Given the description of an element on the screen output the (x, y) to click on. 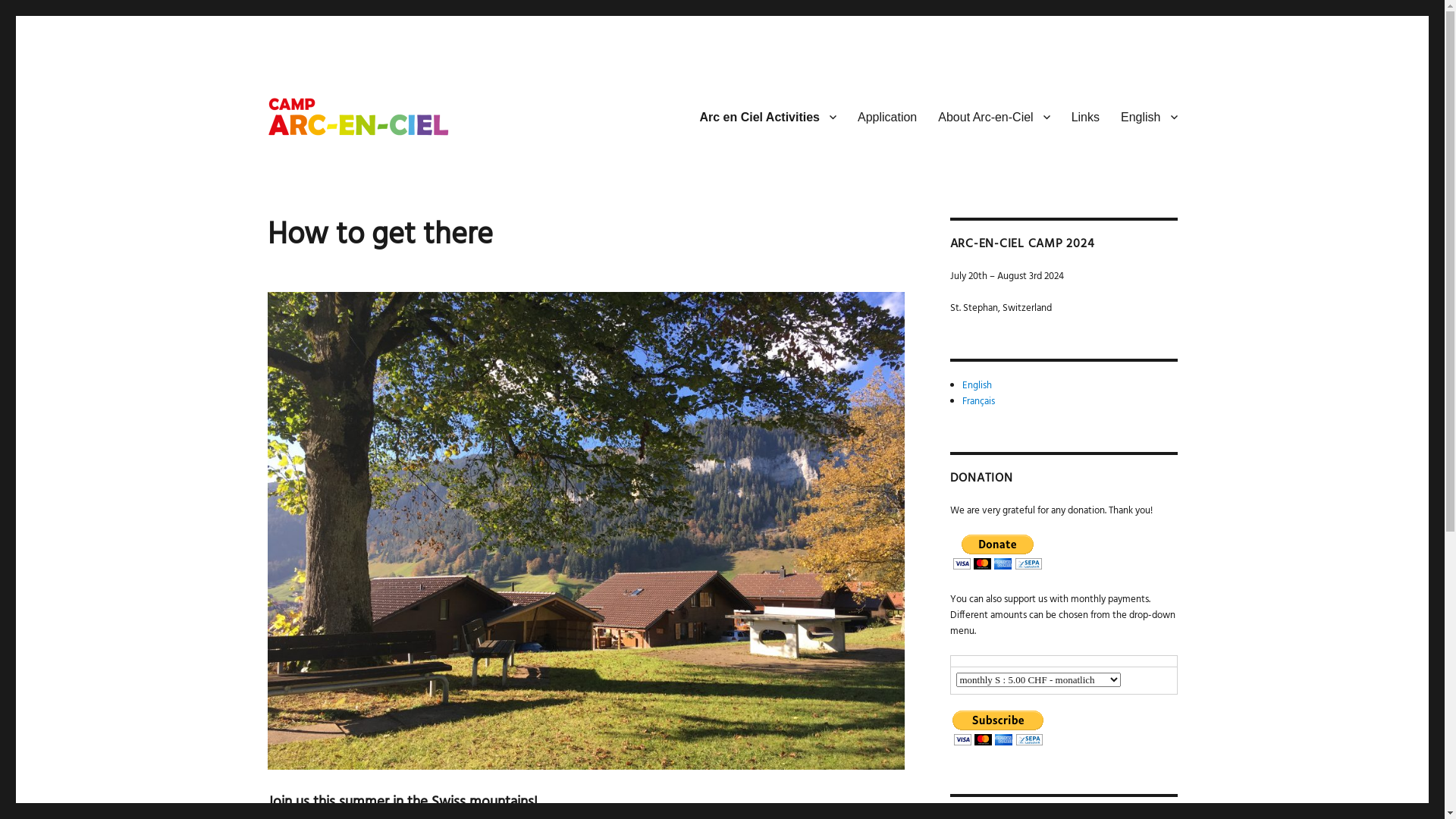
Camp Arc-en-ciel Element type: text (345, 165)
English Element type: text (976, 385)
Arc en Ciel Activities Element type: text (767, 116)
About Arc-en-Ciel Element type: text (993, 116)
Application Element type: text (887, 116)
English Element type: text (1148, 116)
Links Element type: text (1085, 116)
